Given the description of an element on the screen output the (x, y) to click on. 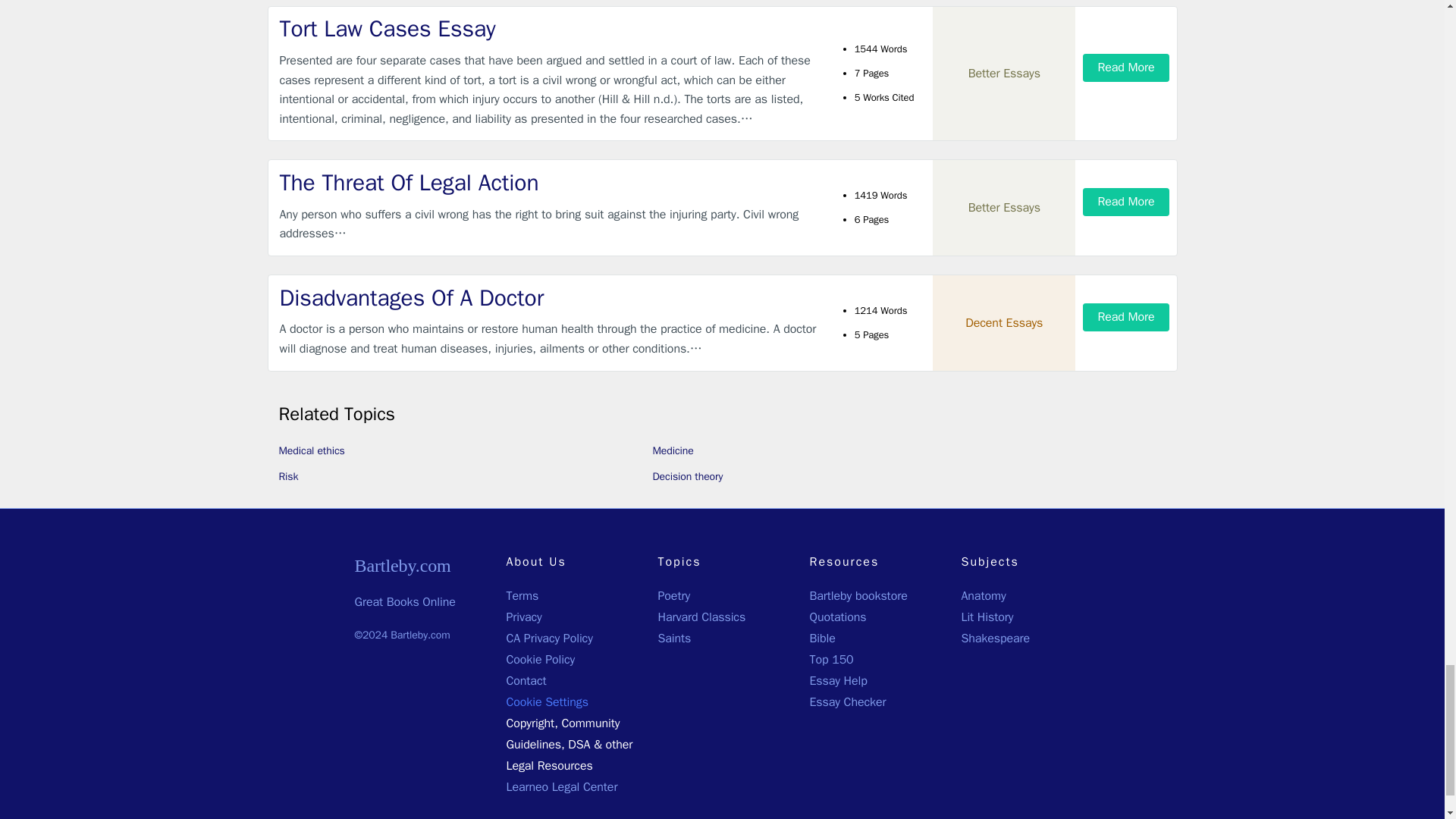
Decision theory (687, 476)
Medical ethics (312, 450)
Risk (288, 476)
Medicine (672, 450)
